Given the description of an element on the screen output the (x, y) to click on. 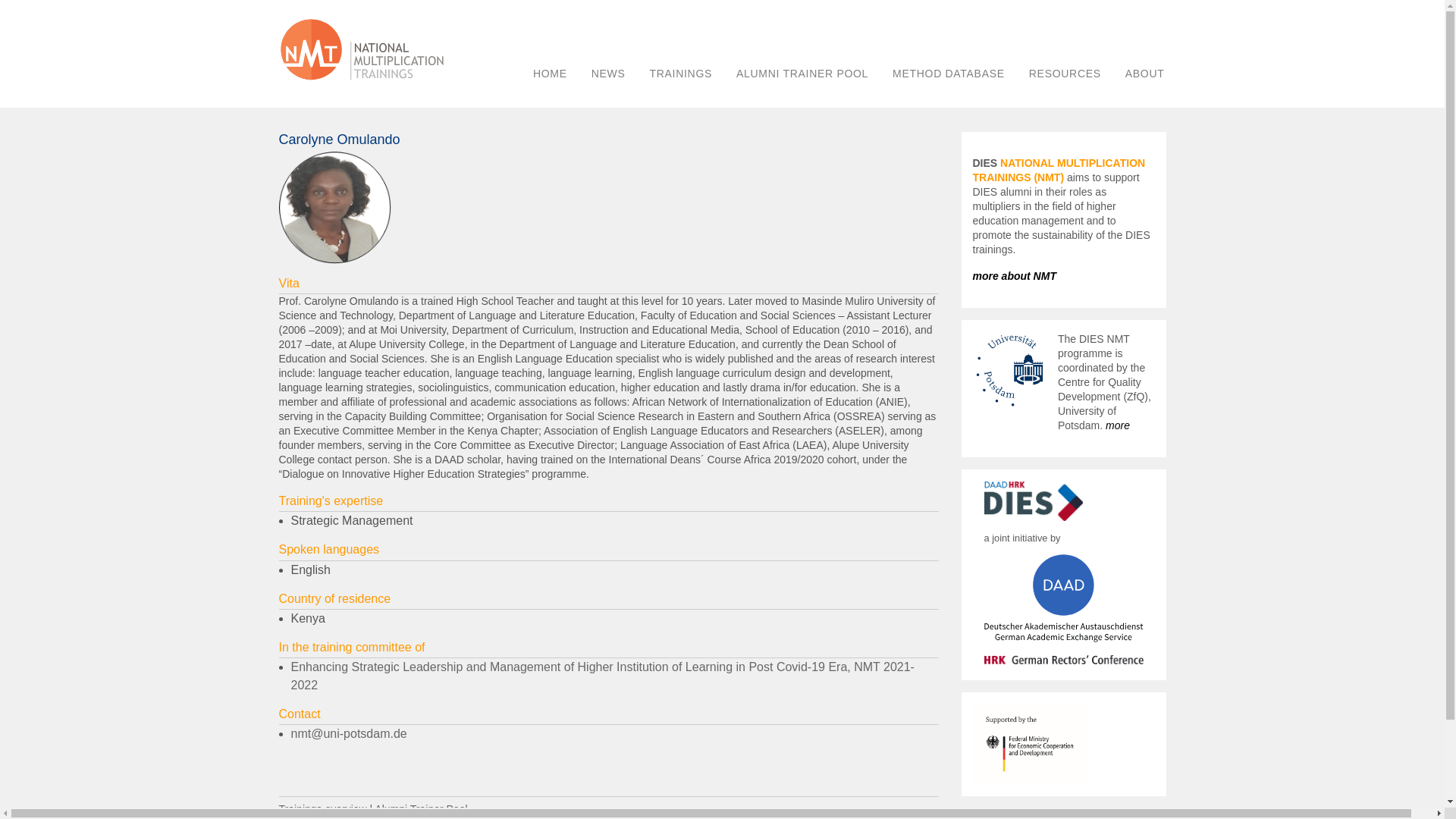
ALUMNI TRAINER POOL (802, 73)
RESOURCES (1064, 73)
TRAININGS (680, 73)
NEWS (608, 73)
ABOUT (1144, 73)
NEWS (608, 73)
HOME (550, 73)
ALUMNI TRAINER POOL (802, 73)
HOME (550, 73)
